Given the description of an element on the screen output the (x, y) to click on. 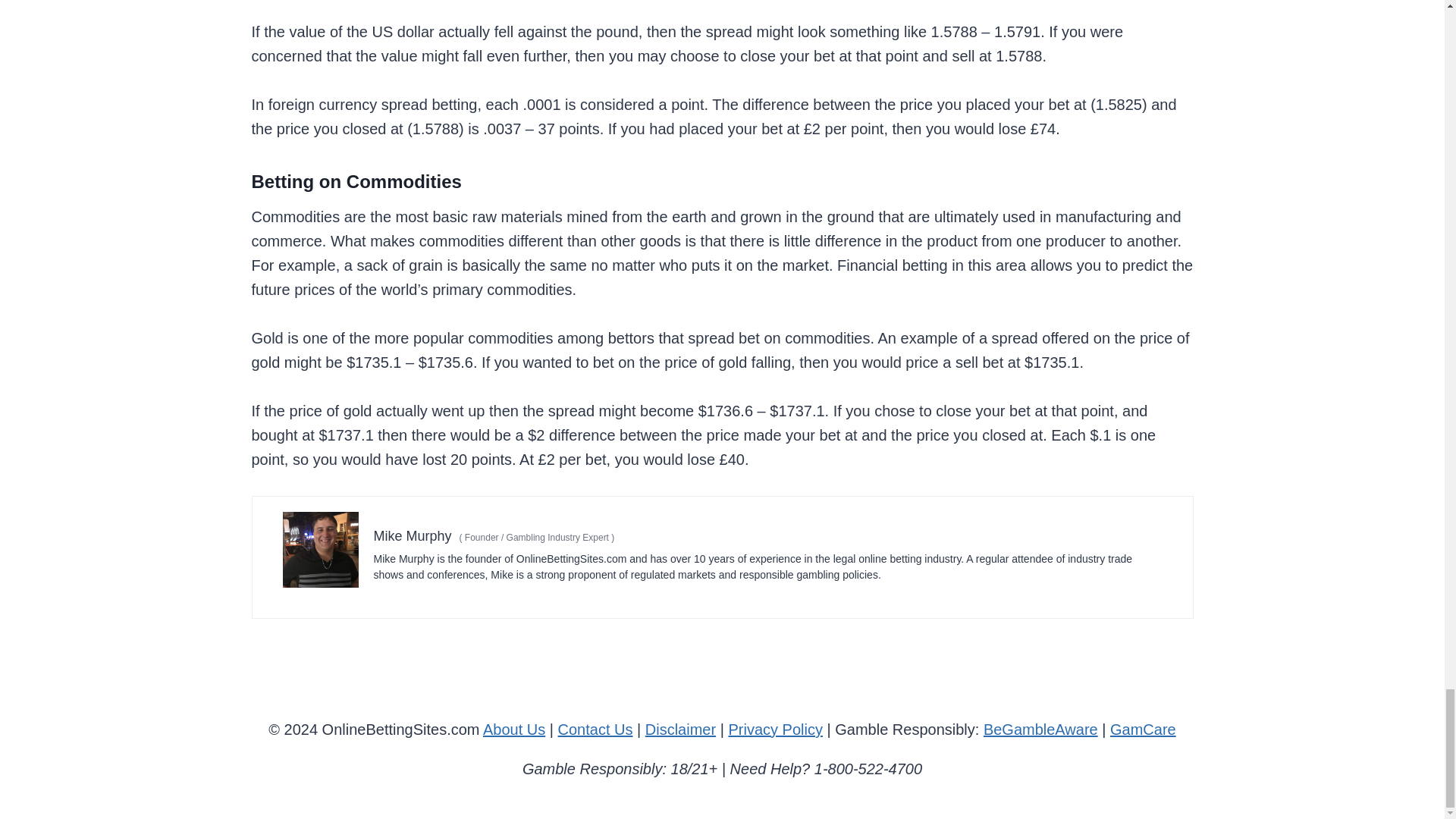
MikeMurphyOnlineBettingSites (320, 549)
